Given the description of an element on the screen output the (x, y) to click on. 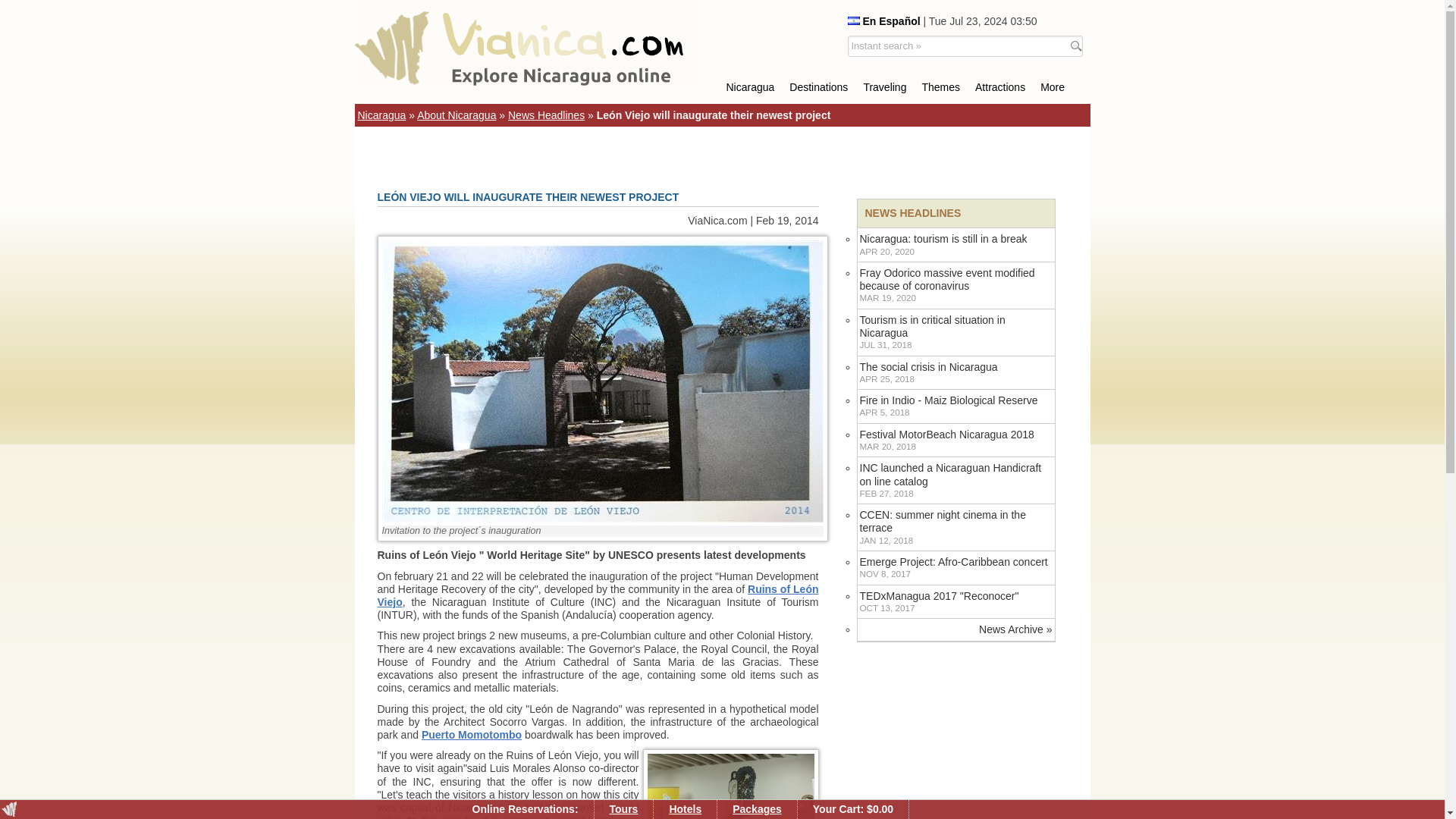
Destinations (818, 87)
Nicaragua (751, 87)
